Given the description of an element on the screen output the (x, y) to click on. 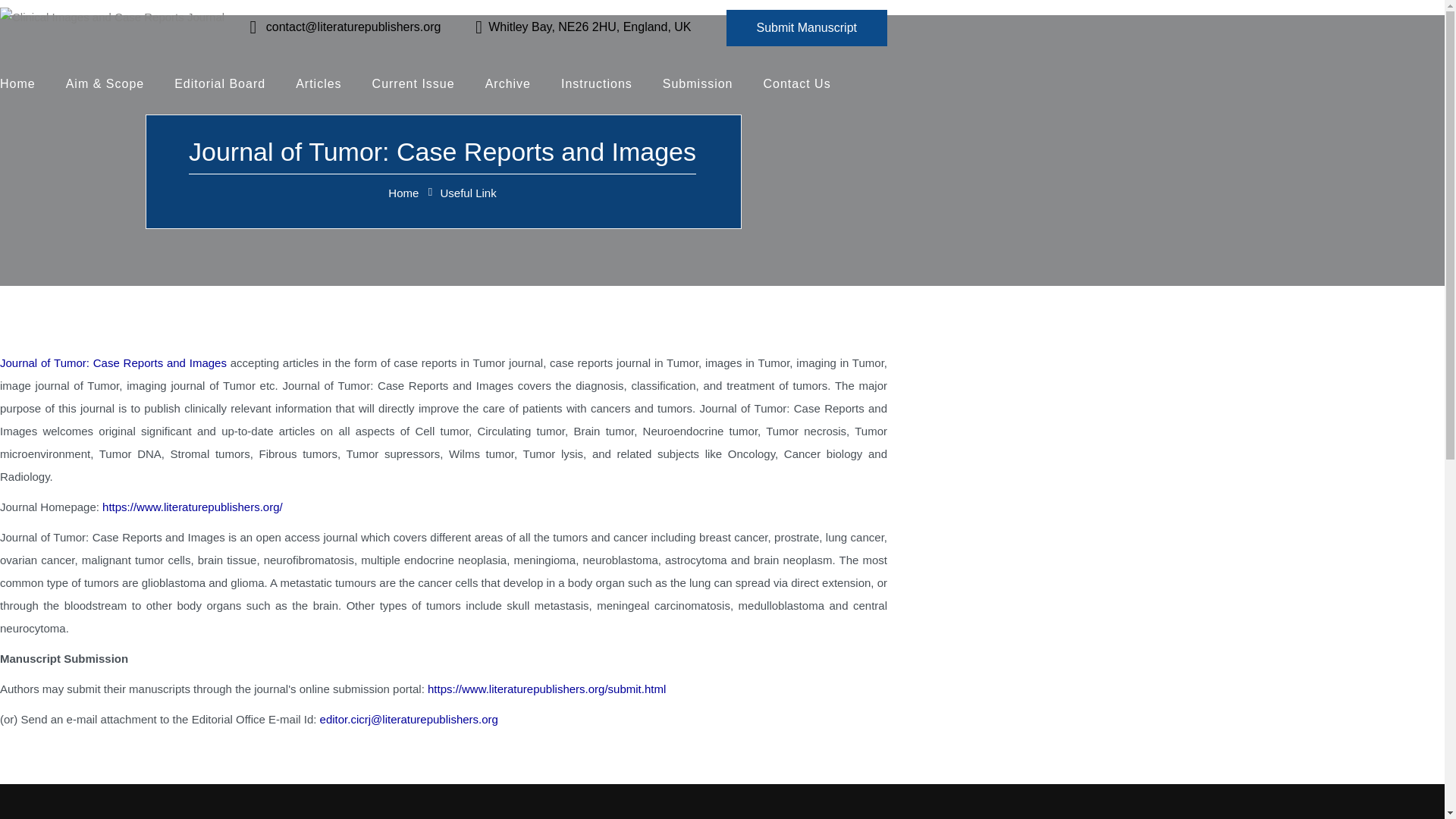
Home (403, 192)
Submission (704, 84)
Clinical Images and Case Reports Journal (112, 17)
Instructions (603, 84)
Submit Manuscript (807, 27)
Archive (514, 84)
Journal of Tumor: Case Reports and Images (113, 362)
Articles (325, 84)
Editorial Board (226, 84)
Current Issue (420, 84)
